Given the description of an element on the screen output the (x, y) to click on. 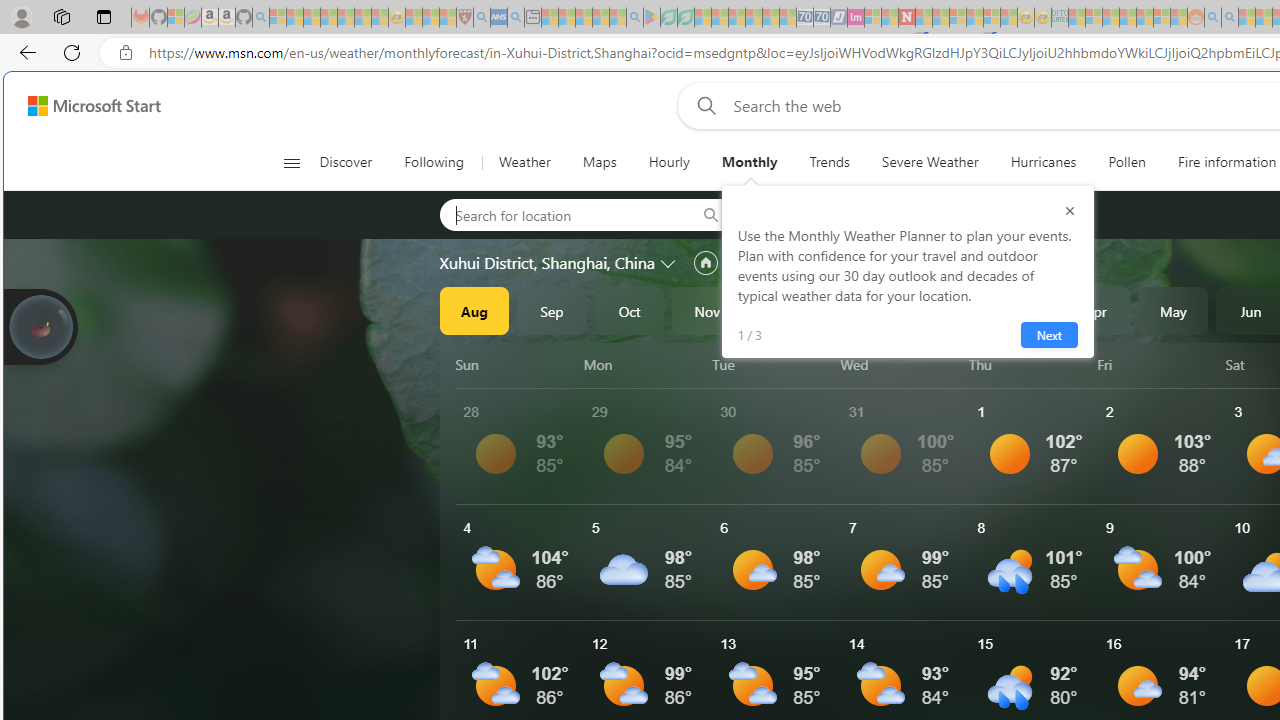
May (1173, 310)
Pollen (1126, 162)
Apr (1095, 310)
Feb (939, 310)
Sep (552, 310)
Local - MSN - Sleeping (447, 17)
Thu (1028, 363)
Search for location (561, 214)
Hurricanes (1042, 162)
